Given the description of an element on the screen output the (x, y) to click on. 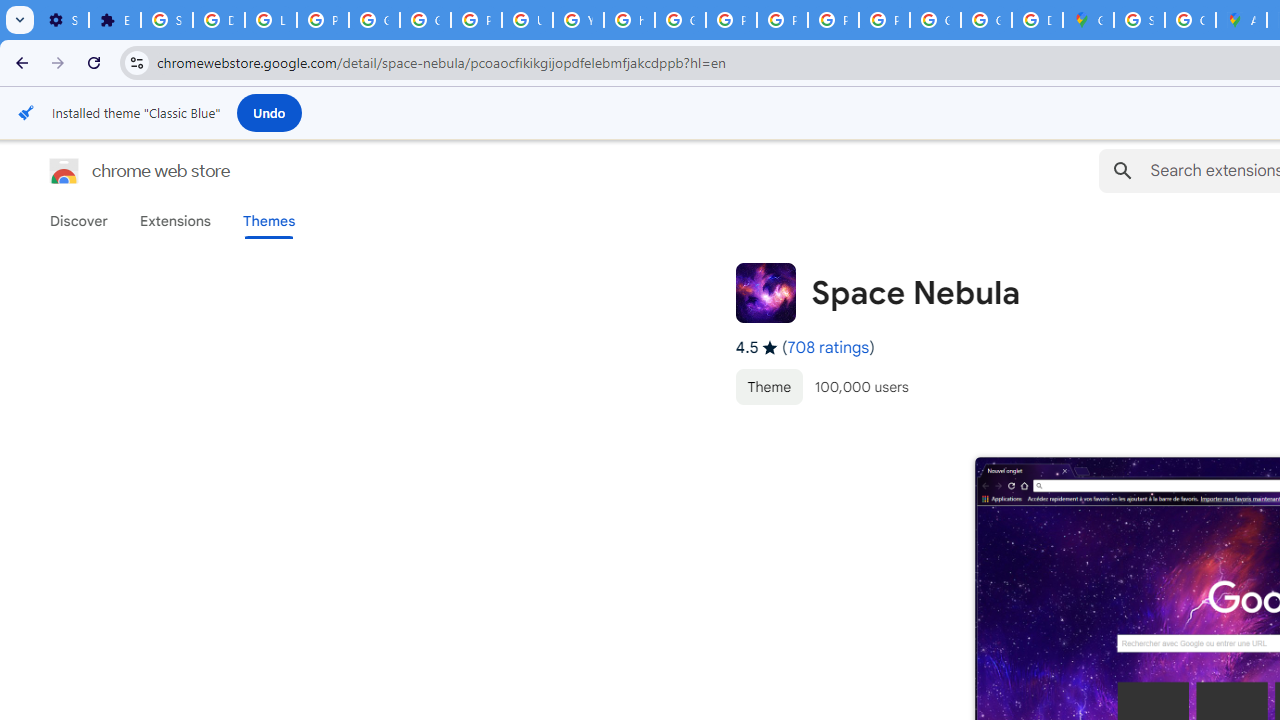
Reload (93, 62)
Extensions (114, 20)
Learn how to find your photos - Google Photos Help (270, 20)
Item logo image for Space Nebula (765, 292)
Google Maps (1087, 20)
System (10, 11)
Theme (768, 386)
Discover (79, 221)
Back (19, 62)
Search tabs (20, 20)
Privacy Help Center - Policies Help (731, 20)
Delete photos & videos - Computer - Google Photos Help (218, 20)
